Given the description of an element on the screen output the (x, y) to click on. 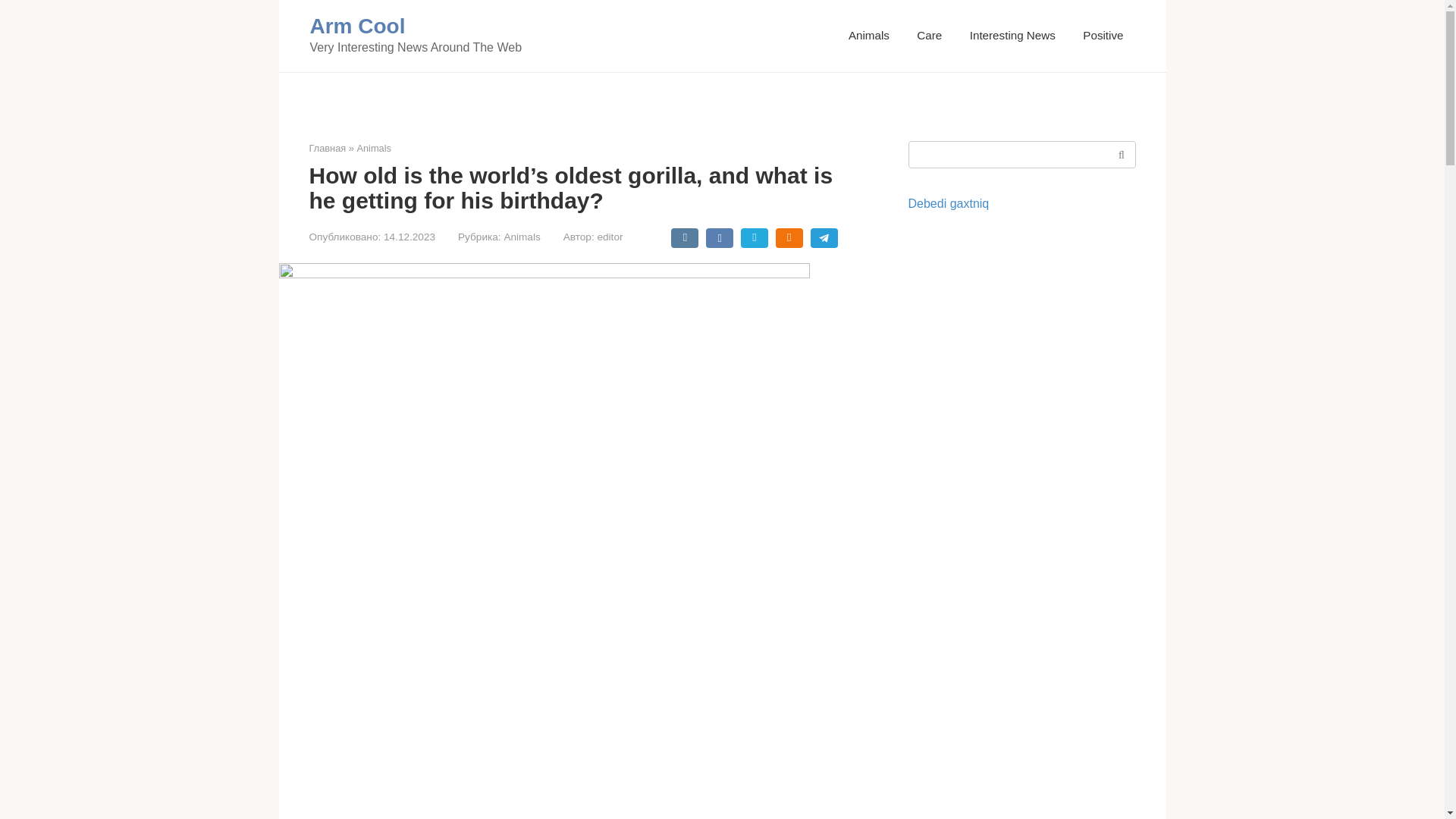
Arm Cool (356, 25)
Positive (1102, 35)
Animals (868, 35)
Interesting News (1012, 35)
Care (929, 35)
Animals (373, 147)
Debedi gaxtniq (949, 203)
Animals (521, 236)
